Given the description of an element on the screen output the (x, y) to click on. 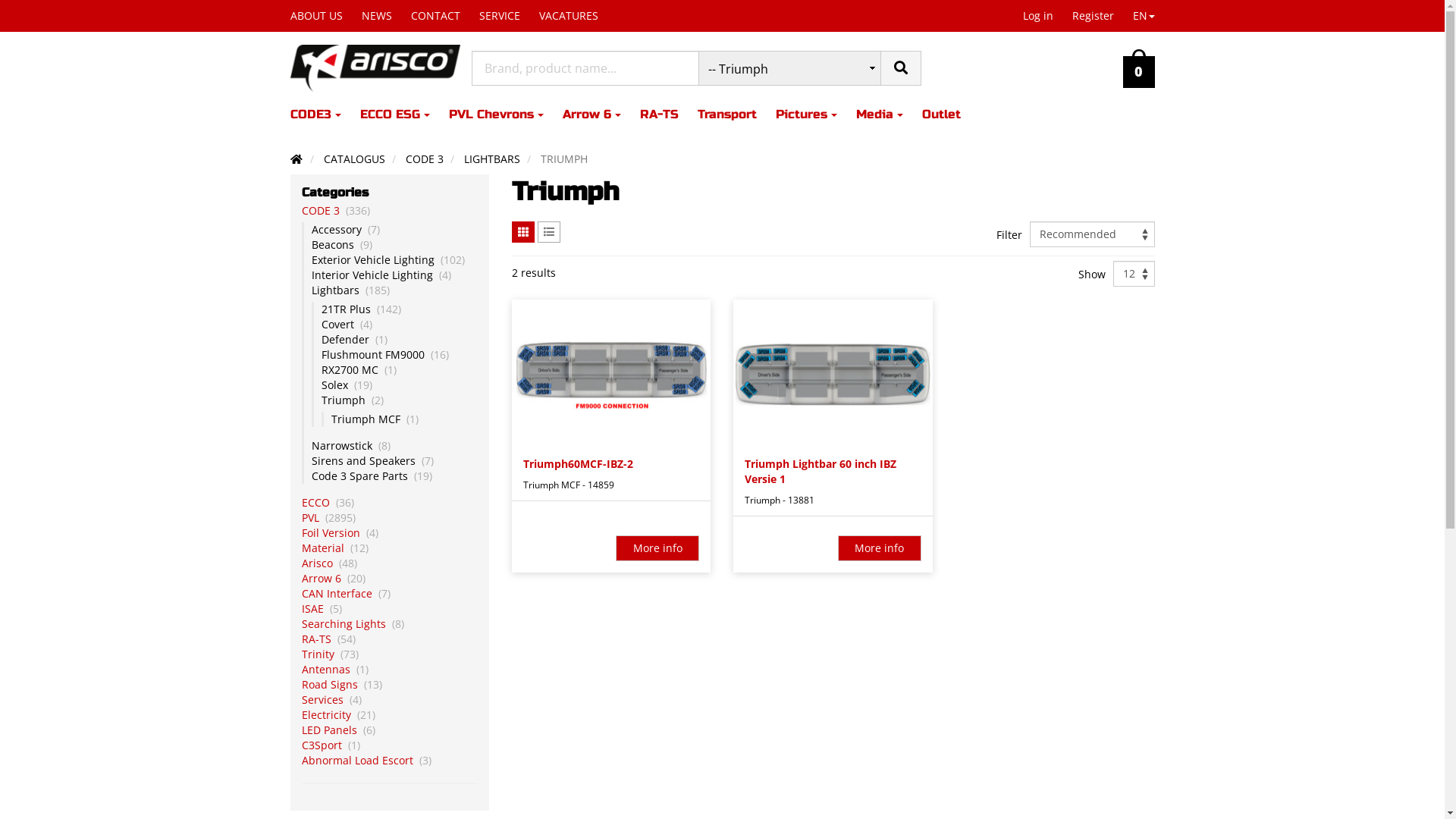
RA-TS (54) Element type: text (389, 638)
VACATURES Element type: text (577, 15)
RA-TS Element type: text (668, 114)
More info Element type: text (657, 548)
ISAE (5) Element type: text (389, 608)
Arrow 6 (20) Element type: text (389, 578)
CODE3 Element type: text (324, 114)
Abnormal Load Escort (3) Element type: text (389, 760)
Antennas (1) Element type: text (389, 669)
Lightbars (185) Element type: text (393, 290)
EN Element type: text (1145, 15)
Foil Version (4) Element type: text (389, 532)
Beacons (9) Element type: text (393, 244)
Triumph Lightbar 60 inch IBZ Versie 1 Element type: hover (832, 373)
21TR Plus (142) Element type: text (399, 308)
Triumph (2) Element type: text (399, 399)
Material (12) Element type: text (389, 547)
Defender (1) Element type: text (399, 339)
Sirens and Speakers (7) Element type: text (393, 460)
Triumph60MCF-IBZ-2 Element type: text (610, 463)
Solex (19) Element type: text (399, 384)
Arrow 6 Element type: text (601, 114)
Transport Element type: text (736, 114)
Road Signs (13) Element type: text (389, 684)
Arisco (48) Element type: text (389, 563)
Log in Element type: text (1038, 15)
CONTACT Element type: text (445, 15)
NEWS Element type: text (385, 15)
Narrowstick (8) Element type: text (393, 445)
Triumph Lightbar 60 inch IBZ Versie 1 Element type: text (832, 471)
CODE 3 Element type: text (424, 158)
Register Element type: text (1094, 15)
Covert (4) Element type: text (399, 324)
LED Panels (6) Element type: text (389, 729)
Interior Vehicle Lighting (4) Element type: text (393, 274)
LIGHTBARS Element type: text (492, 158)
ABOUT US Element type: text (324, 15)
More info Element type: text (879, 548)
Triumph MCF (1) Element type: text (403, 418)
Electricity (21) Element type: text (389, 714)
PVL (2895) Element type: text (389, 517)
RX2700 MC (1) Element type: text (399, 369)
CAN Interface (7) Element type: text (389, 593)
Arisco Element type: hover (374, 67)
Services (4) Element type: text (389, 699)
ECCO (36) Element type: text (389, 502)
Accessory (7) Element type: text (393, 229)
Triumph60MCF-IBZ-2 Element type: hover (610, 373)
CODE 3 (336) Element type: text (389, 210)
Searching Lights (8) Element type: text (389, 623)
SERVICE Element type: text (509, 15)
Flushmount FM9000 (16) Element type: text (399, 354)
Outlet Element type: text (950, 114)
Trinity (73) Element type: text (389, 654)
Media Element type: text (888, 114)
Pictures Element type: text (815, 114)
Code 3 Spare Parts (19) Element type: text (393, 475)
CATALOGUS Element type: text (354, 158)
PVL Chevrons Element type: text (505, 114)
ECCO ESG Element type: text (403, 114)
C3Sport (1) Element type: text (389, 745)
Exterior Vehicle Lighting (102) Element type: text (393, 259)
